Given the description of an element on the screen output the (x, y) to click on. 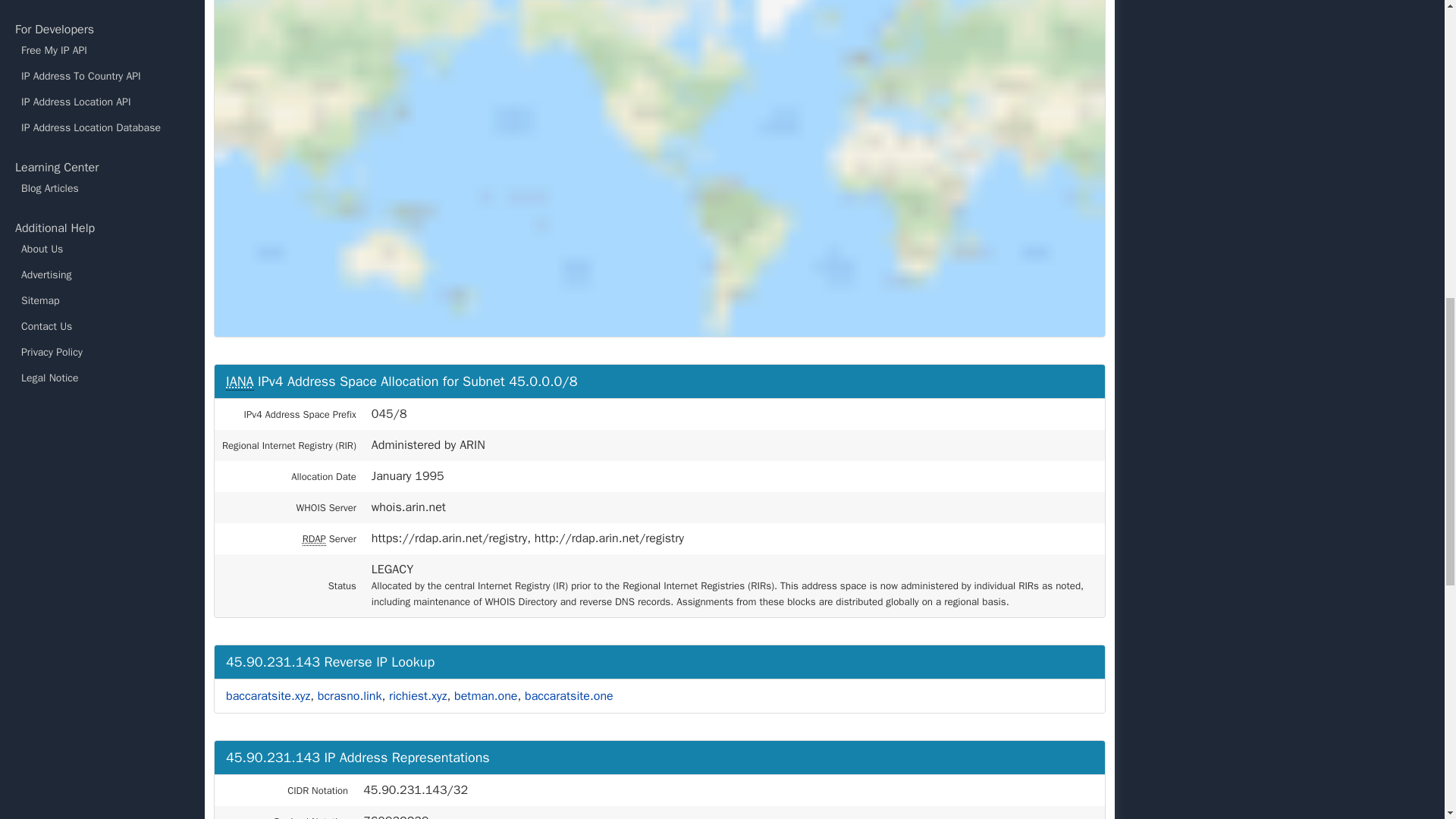
Websites that left the Top Million (101, 1)
IP Address Location API (101, 102)
Free My IP API (101, 50)
Internet Assigned Numbers Authority (239, 381)
betman.one (485, 695)
bcrasno.link (349, 695)
richiest.xyz (417, 695)
IP Address To Country API (101, 76)
Registration Data Access Protocol (314, 539)
IP Address Location Database (101, 127)
baccaratsite.xyz (267, 695)
baccaratsite.one (568, 695)
